Given the description of an element on the screen output the (x, y) to click on. 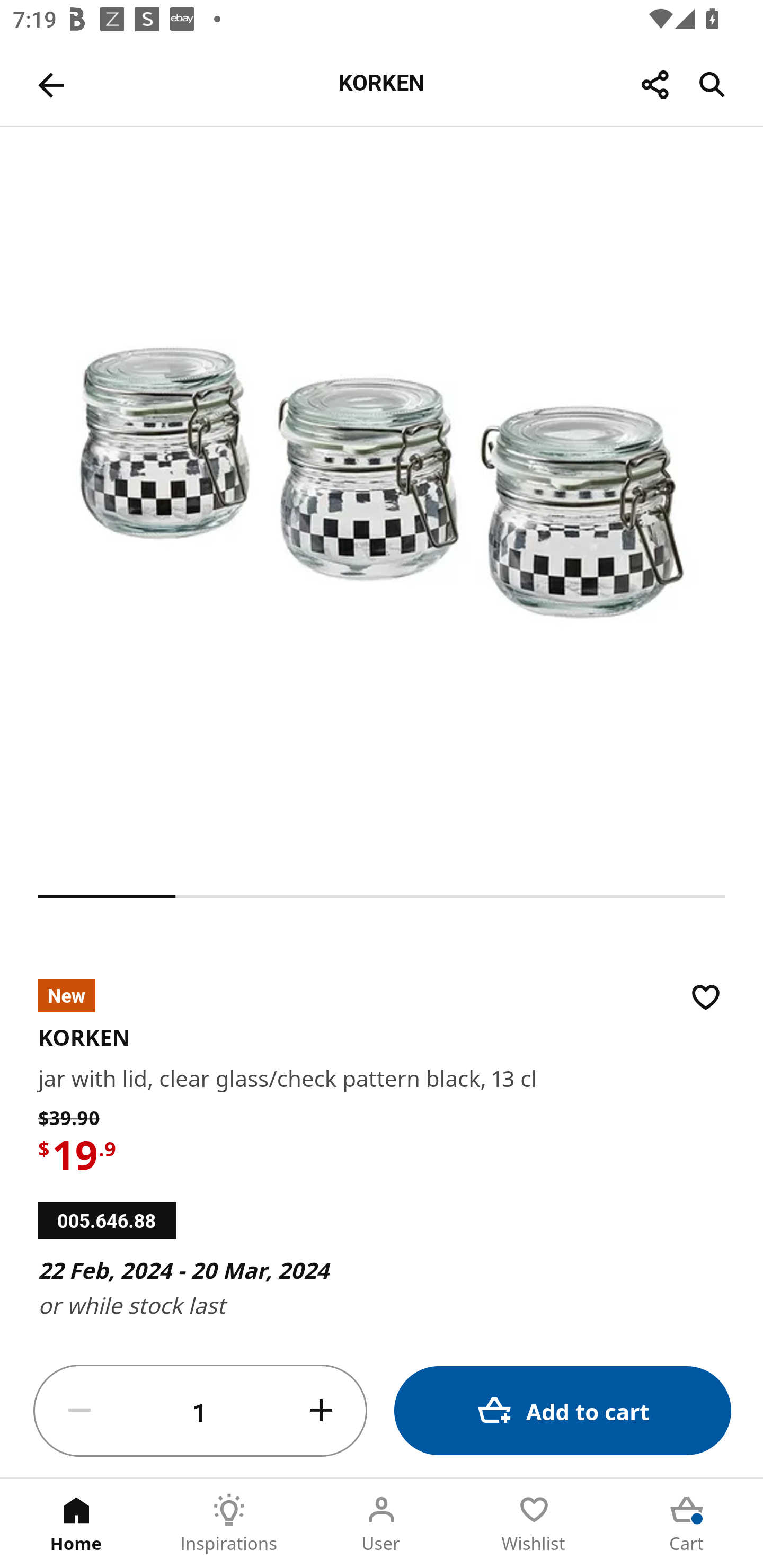
Add to cart (562, 1410)
1 (200, 1411)
Home
Tab 1 of 5 (76, 1522)
Inspirations
Tab 2 of 5 (228, 1522)
User
Tab 3 of 5 (381, 1522)
Wishlist
Tab 4 of 5 (533, 1522)
Cart
Tab 5 of 5 (686, 1522)
